Given the description of an element on the screen output the (x, y) to click on. 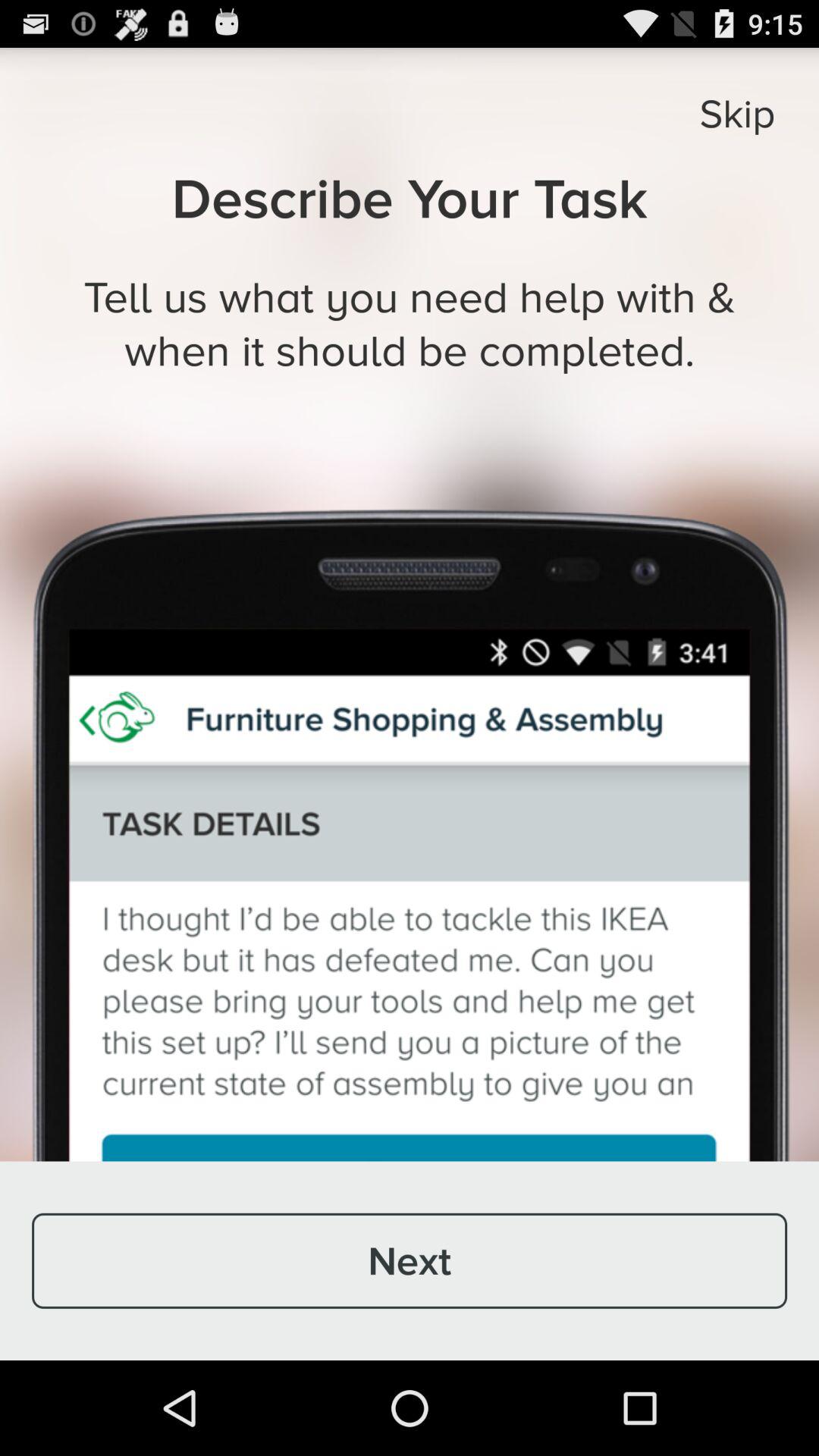
click skip icon (737, 113)
